Given the description of an element on the screen output the (x, y) to click on. 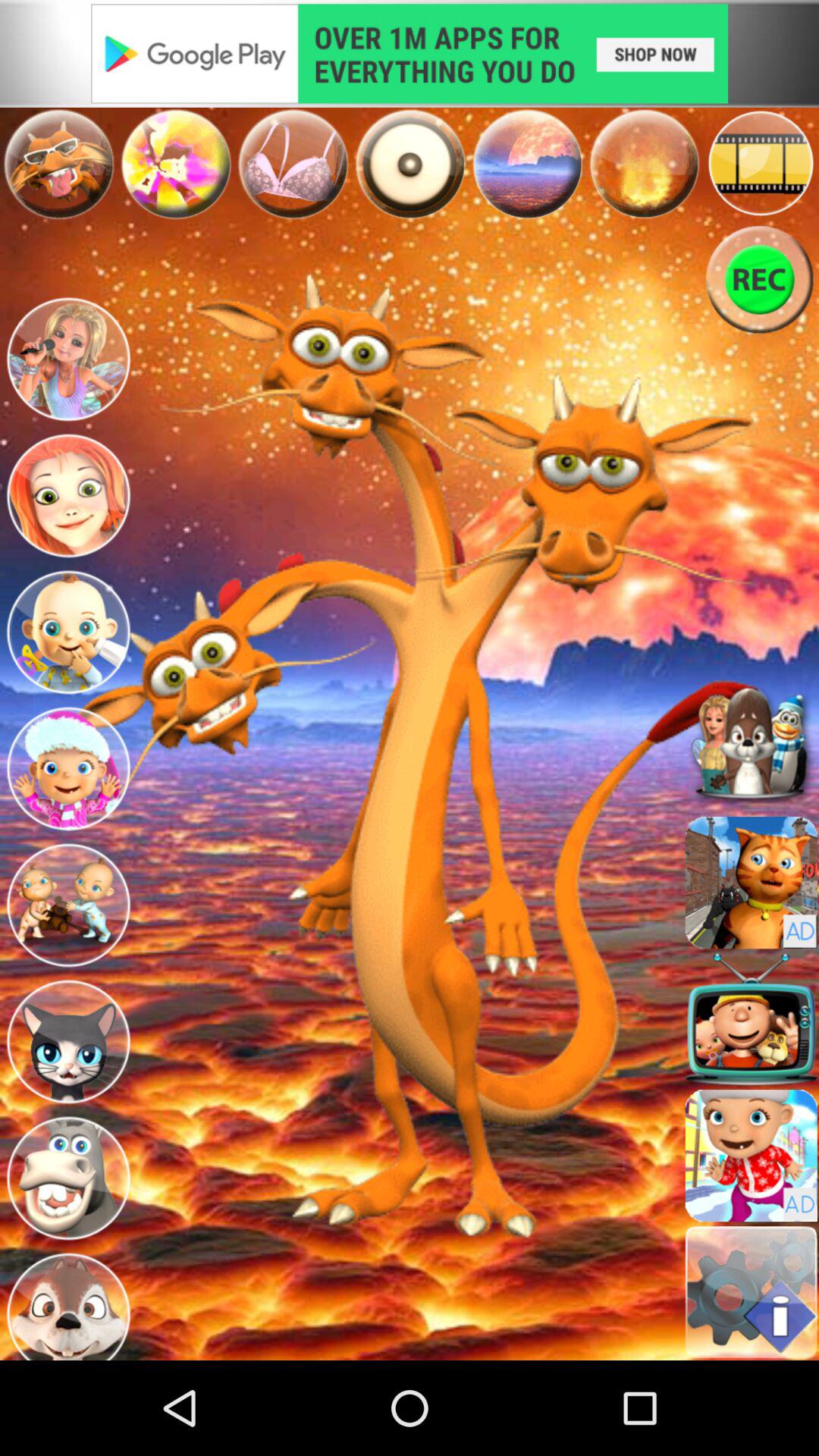
poto (175, 163)
